Given the description of an element on the screen output the (x, y) to click on. 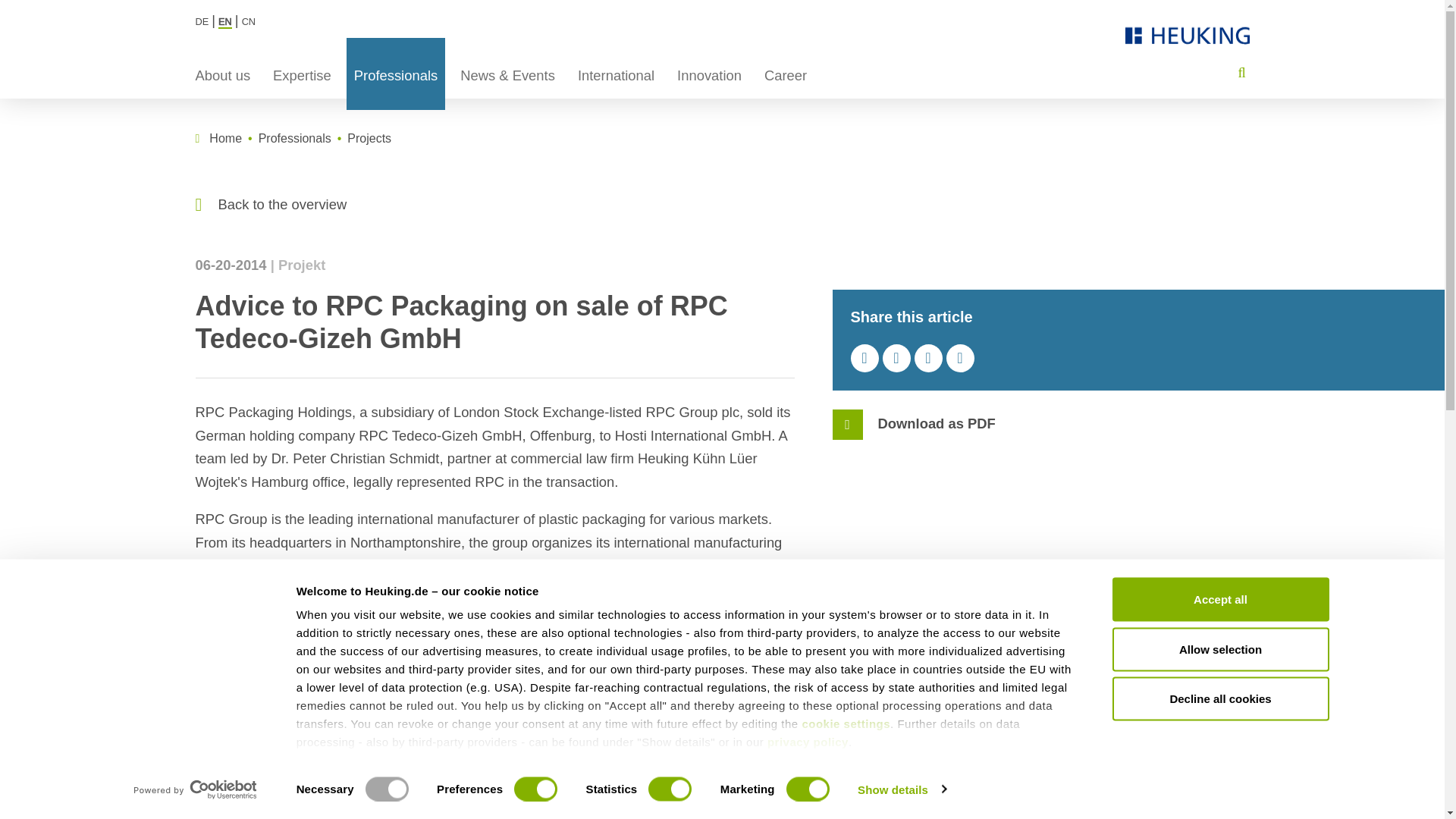
Decline all cookies (1219, 698)
About us (223, 73)
Open the Cookie Settings (845, 723)
Open the privacy policy (807, 741)
privacy policy (807, 741)
Show details (900, 789)
cookie settings (845, 723)
